Given the description of an element on the screen output the (x, y) to click on. 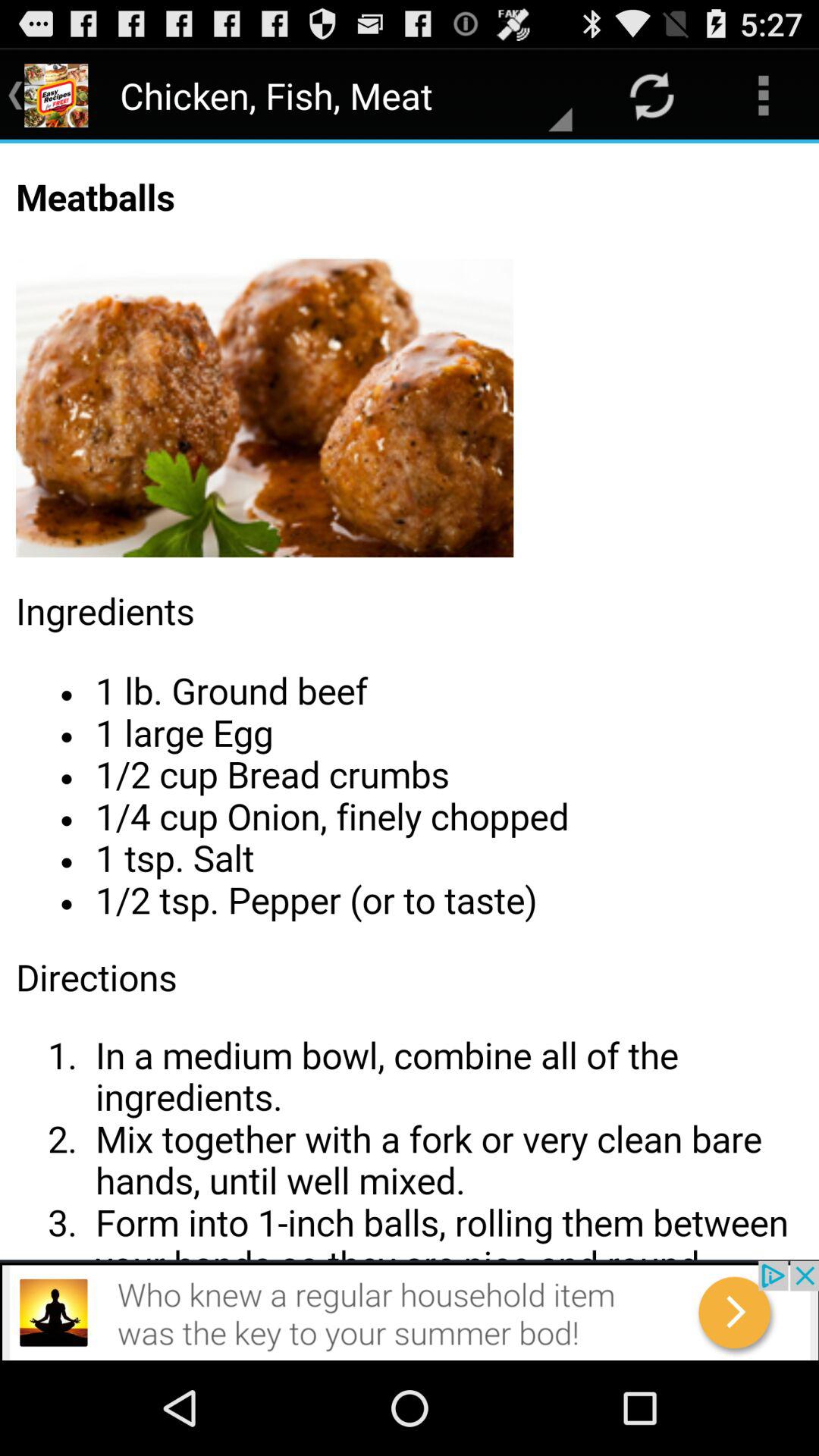
a blinking orange box (409, 701)
